Given the description of an element on the screen output the (x, y) to click on. 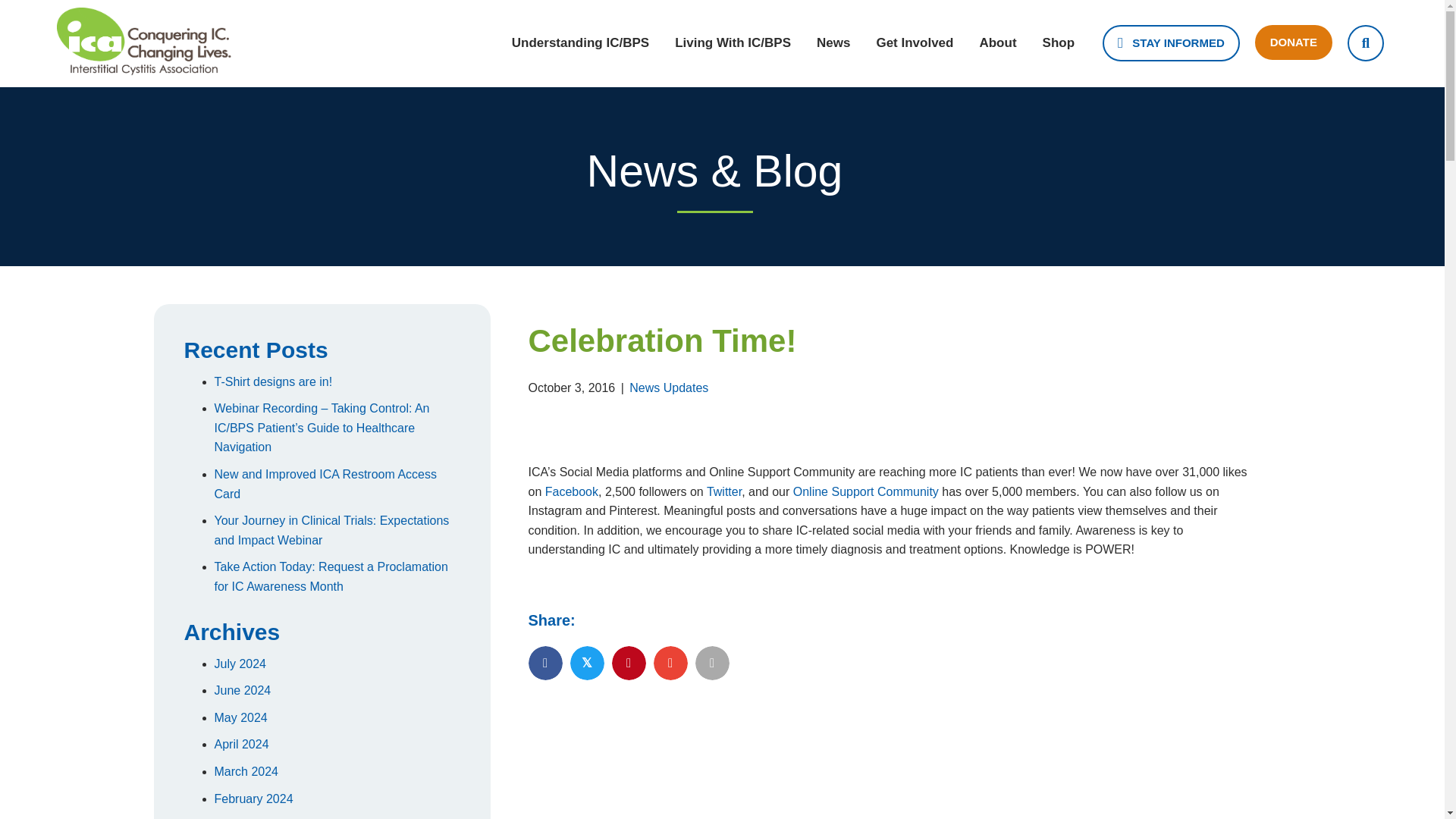
ICA A 2 Color Type On Side Large With Full Name (143, 41)
DONATE (1293, 42)
STAY INFORMED (1171, 43)
